Given the description of an element on the screen output the (x, y) to click on. 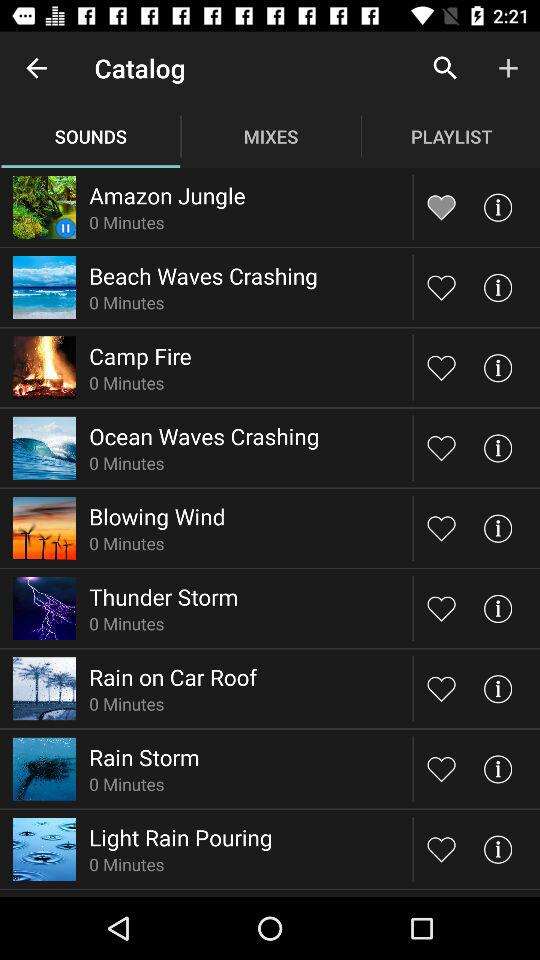
favorite track for amazon jungle (441, 206)
